Given the description of an element on the screen output the (x, y) to click on. 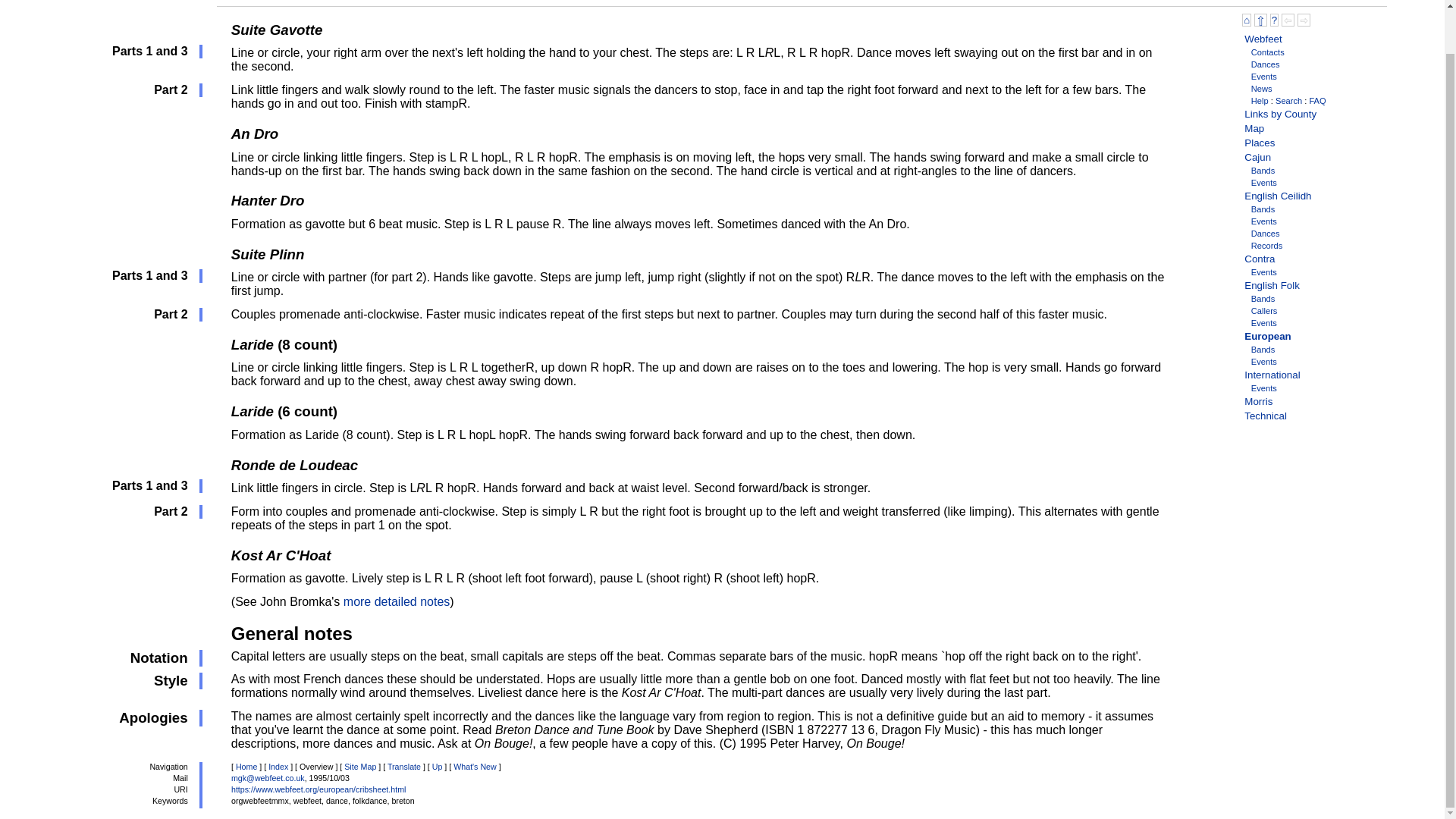
Events (1263, 271)
Events (1263, 361)
Bands (1262, 298)
Events (1263, 76)
News (1261, 88)
Cajun (1257, 156)
Callers (1264, 310)
Events (1263, 388)
Records (1266, 245)
Bands (1262, 208)
